Given the description of an element on the screen output the (x, y) to click on. 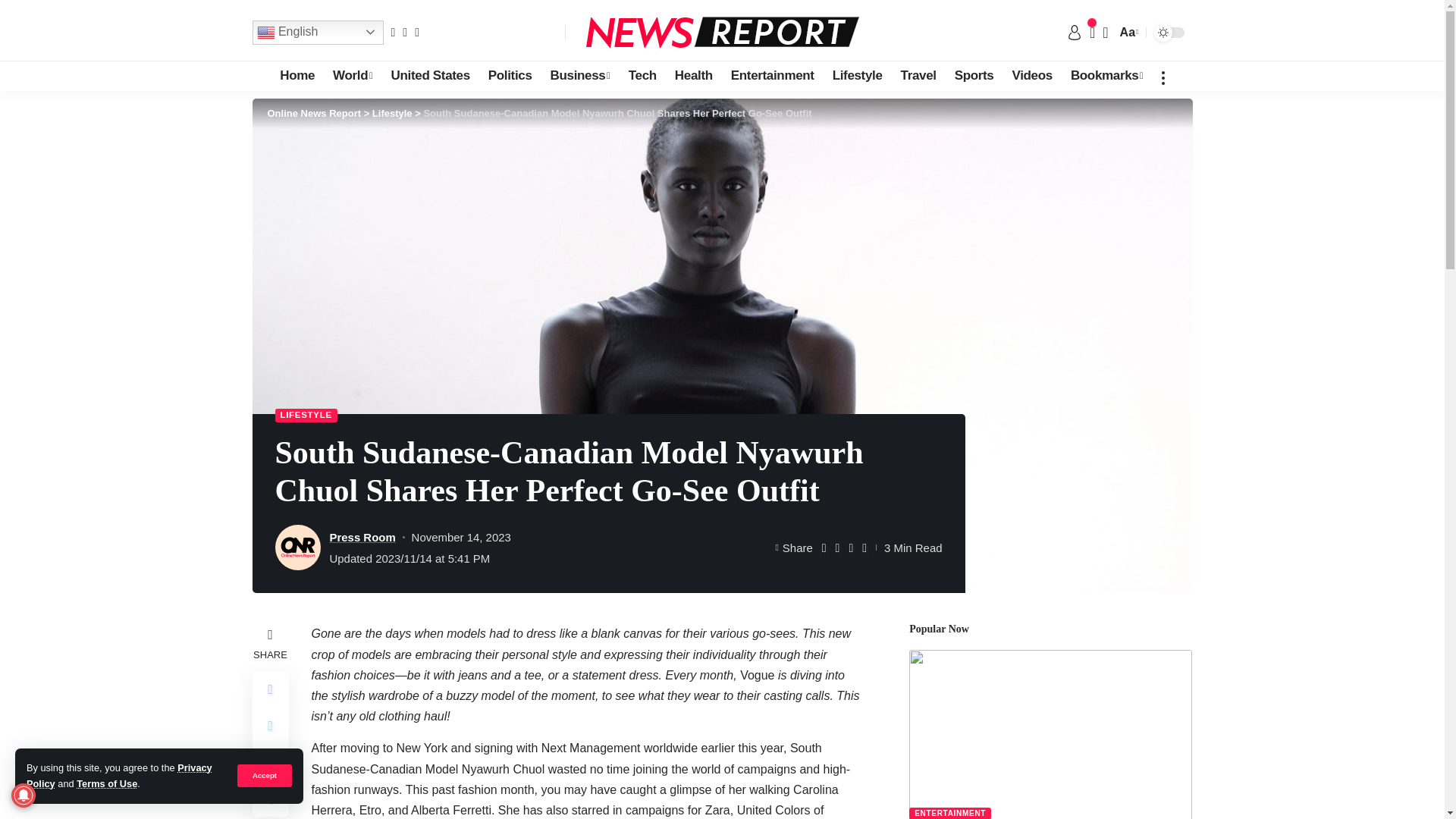
World (352, 75)
Home (296, 75)
English (316, 31)
Online News Report (721, 32)
Accept (264, 775)
Aa (1127, 32)
Terms of Use (106, 783)
Privacy Policy (119, 775)
